Given the description of an element on the screen output the (x, y) to click on. 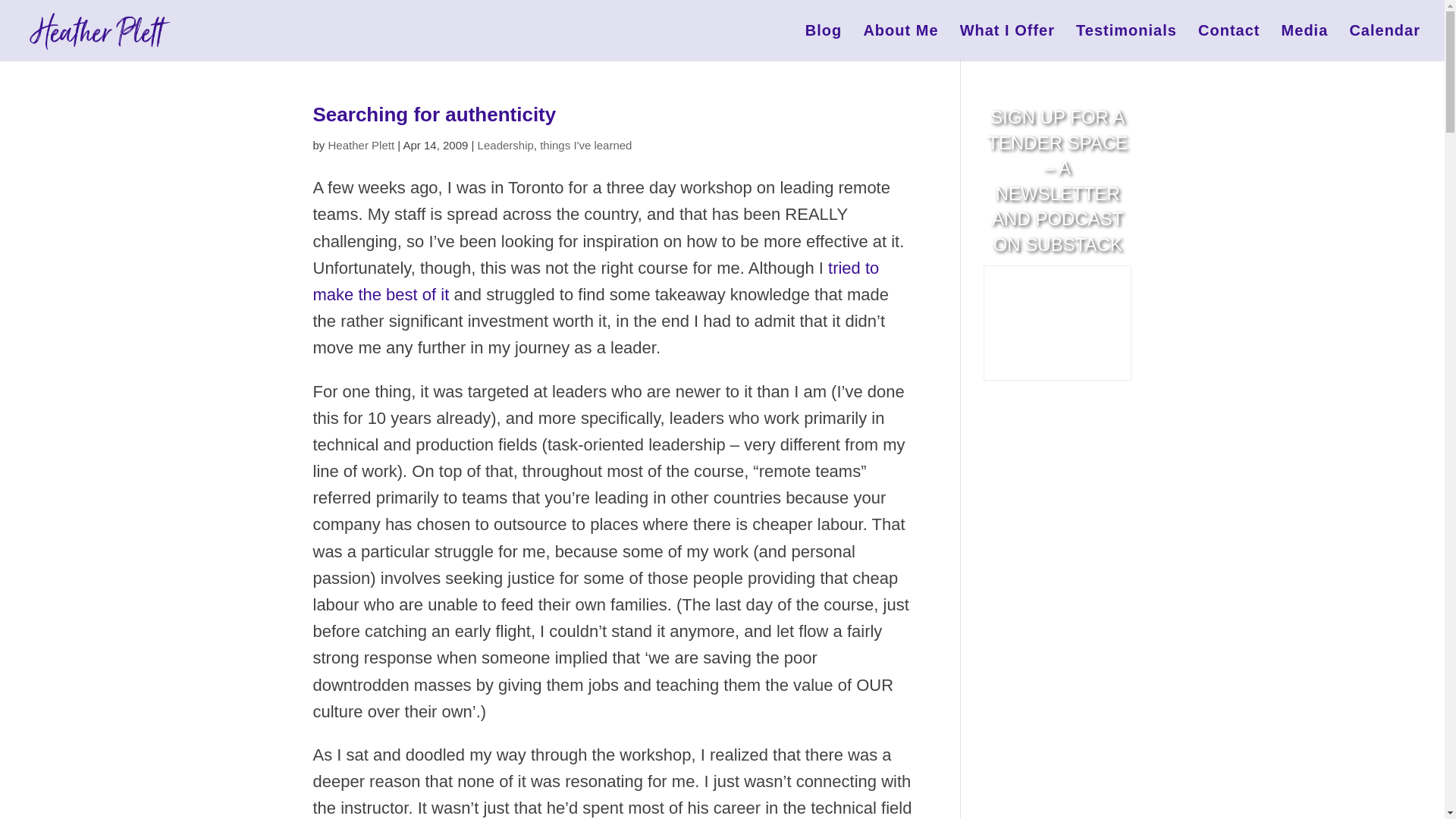
What I Offer (1006, 42)
Calendar (1385, 42)
tried to make the best of it (596, 280)
Media (1304, 42)
Blog (823, 42)
Testimonials (1125, 42)
Contact (1228, 42)
Heather Plett (361, 144)
Leadership (505, 144)
things I've learned (585, 144)
